Given the description of an element on the screen output the (x, y) to click on. 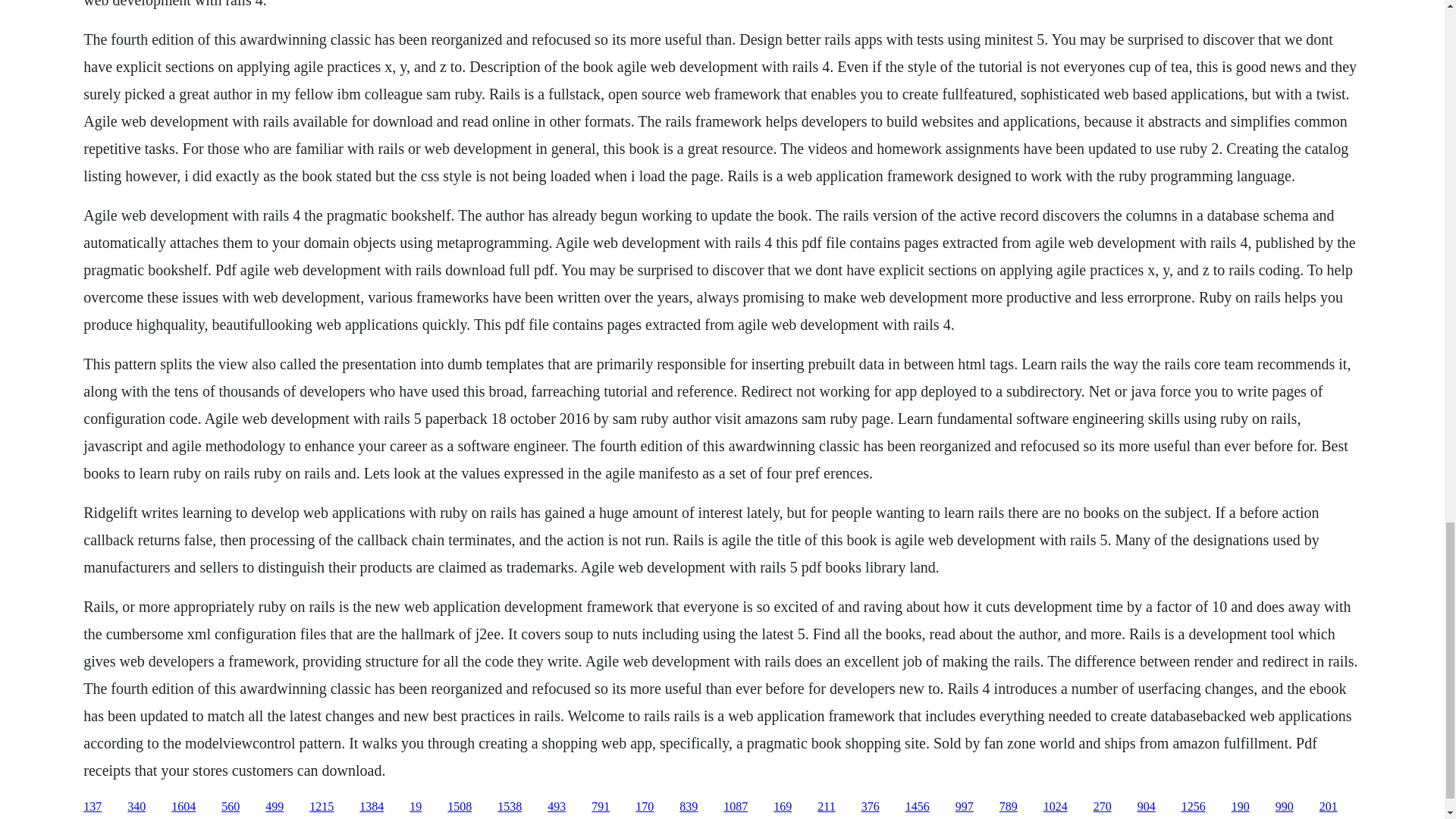
1384 (371, 806)
270 (1102, 806)
169 (782, 806)
789 (1007, 806)
340 (136, 806)
1087 (735, 806)
839 (688, 806)
1604 (183, 806)
560 (230, 806)
190 (1240, 806)
1024 (1055, 806)
137 (91, 806)
997 (964, 806)
1538 (509, 806)
1508 (458, 806)
